Given the description of an element on the screen output the (x, y) to click on. 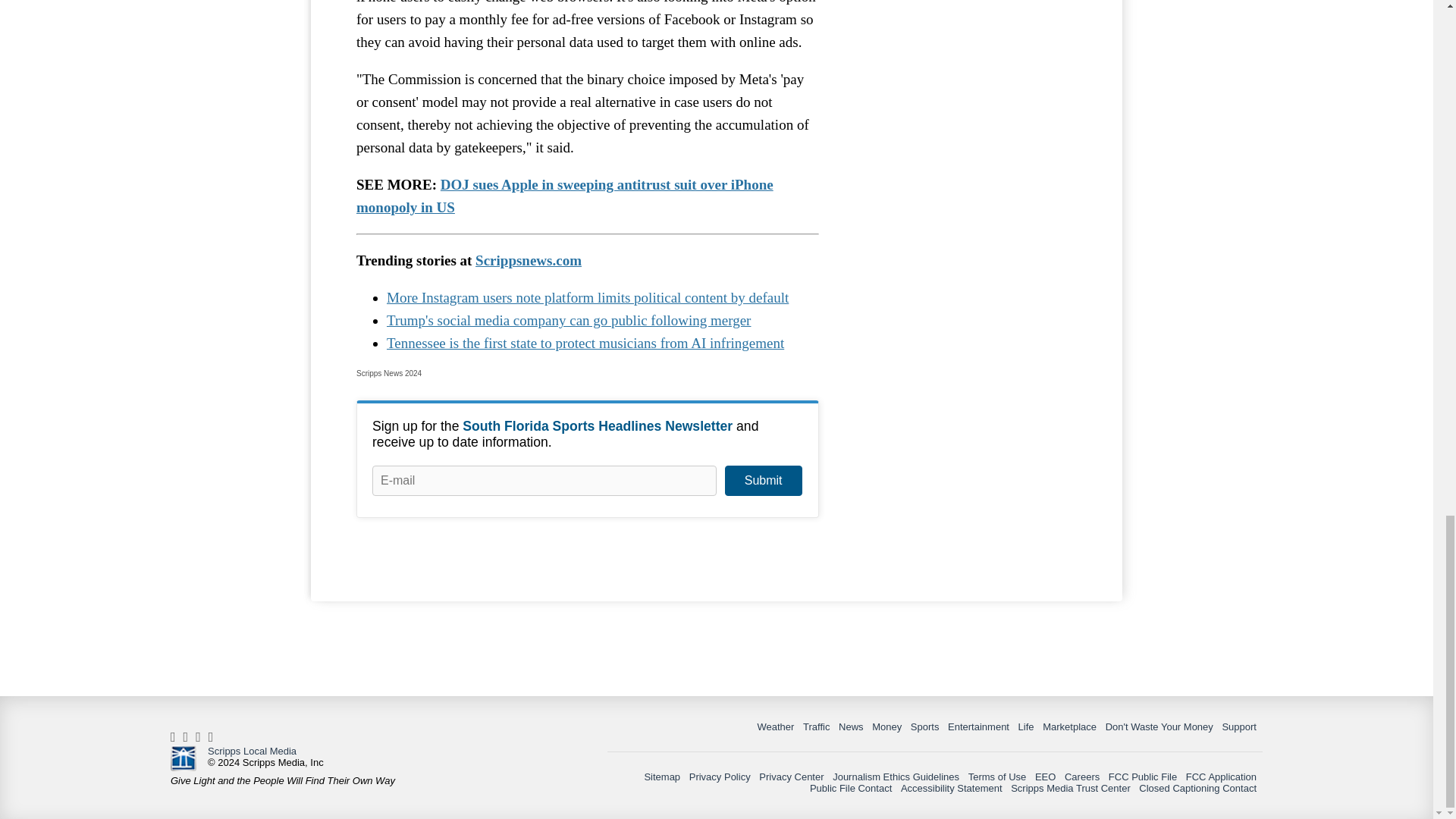
Submit (763, 481)
